Given the description of an element on the screen output the (x, y) to click on. 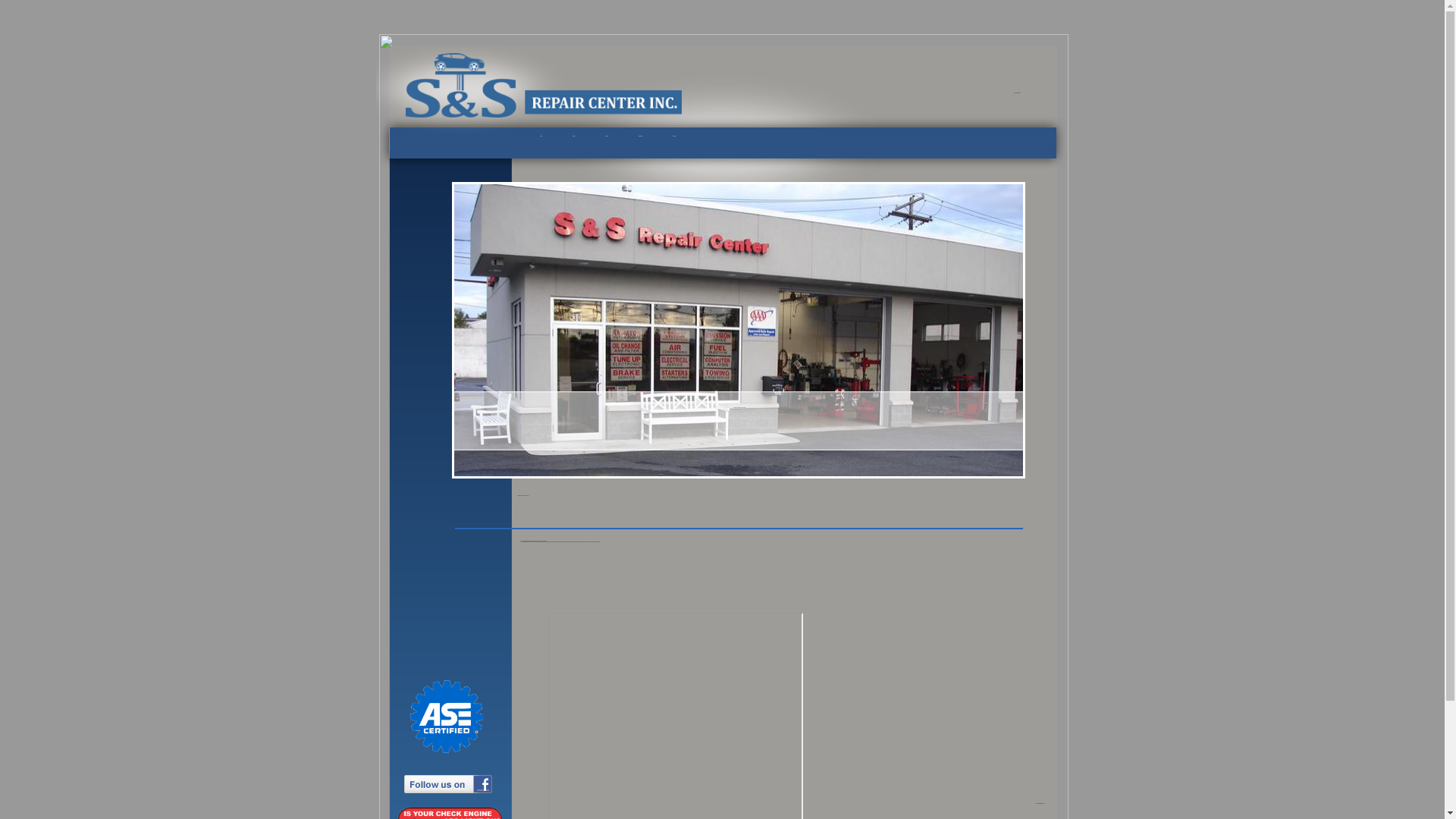
Testimonials Element type: text (640, 135)
Home Element type: text (547, 135)
Services Element type: text (573, 135)
Coupons Element type: text (606, 135)
Contact Us Element type: text (666, 135)
